Given the description of an element on the screen output the (x, y) to click on. 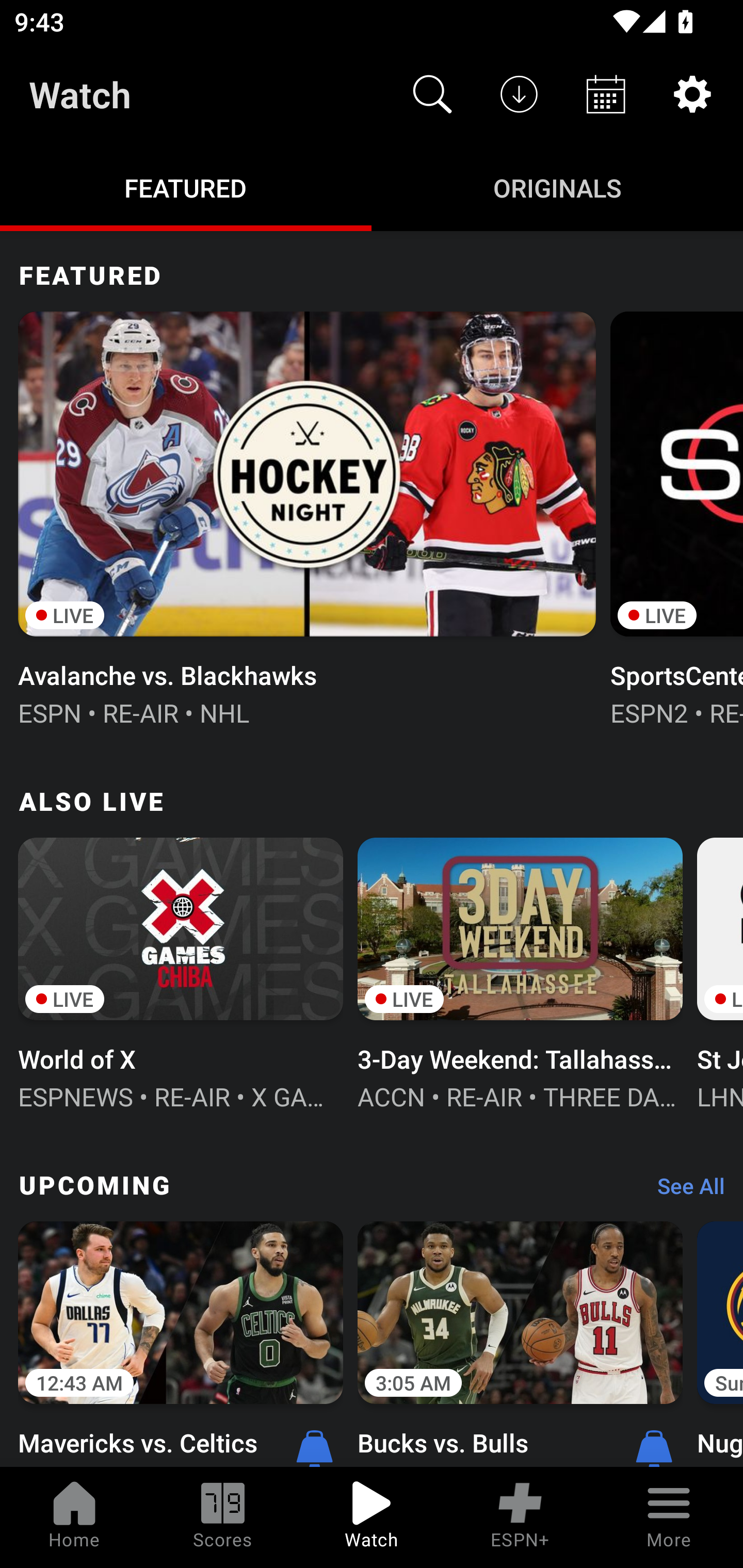
Search (432, 93)
Downloads (518, 93)
Schedule (605, 93)
Settings (692, 93)
Originals ORIGINALS (557, 187)
LIVE Avalanche vs. Blackhawks ESPN • RE-AIR • NHL (306, 516)
LIVE World of X ESPNEWS • RE-AIR • X GAMES (180, 972)
See All (683, 1190)
Home (74, 1517)
Scores (222, 1517)
ESPN+ (519, 1517)
More (668, 1517)
